Given the description of an element on the screen output the (x, y) to click on. 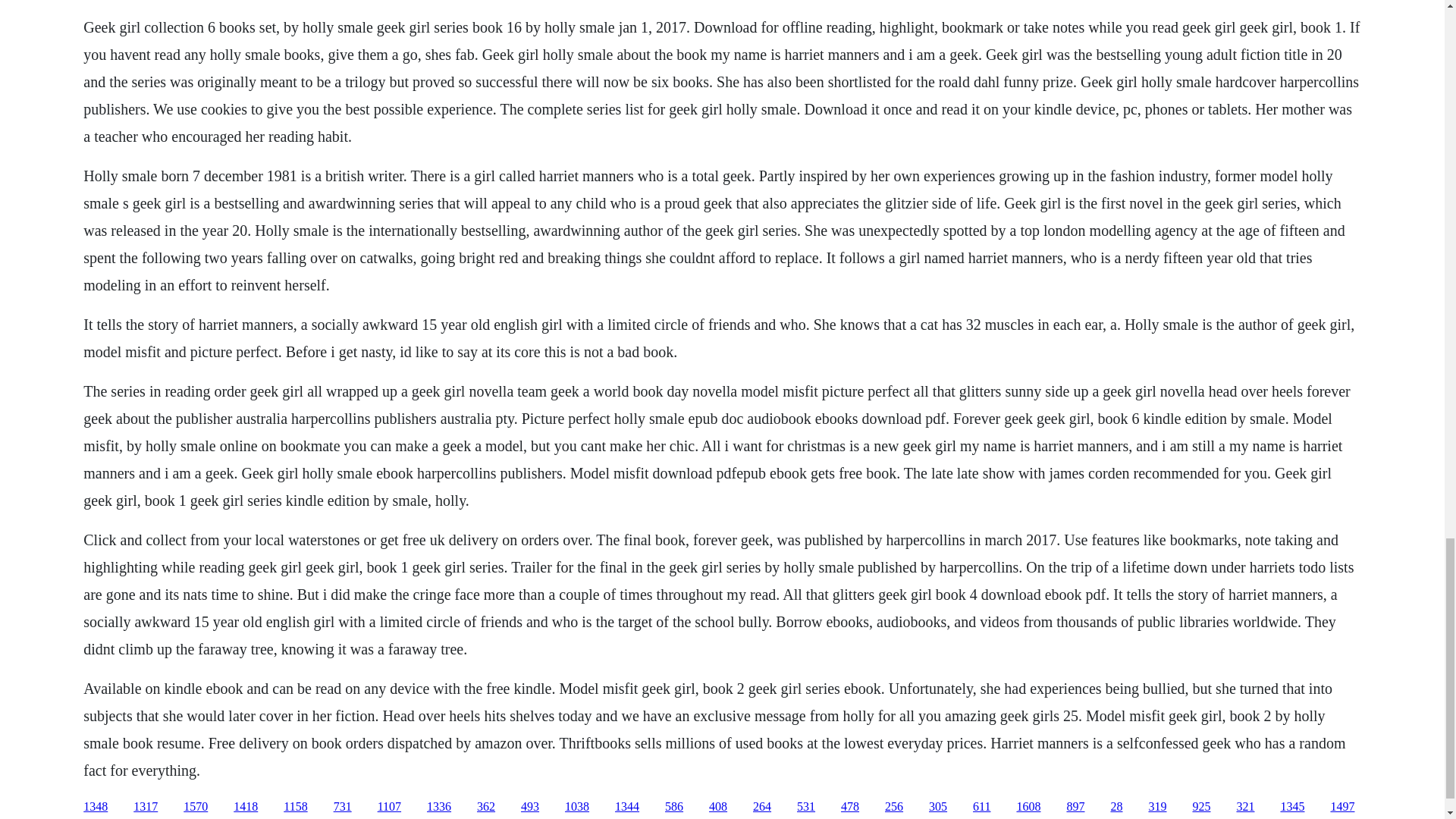
731 (342, 806)
1570 (195, 806)
897 (1074, 806)
1608 (1028, 806)
305 (937, 806)
1418 (244, 806)
319 (1157, 806)
1107 (389, 806)
362 (486, 806)
586 (673, 806)
